Given the description of an element on the screen output the (x, y) to click on. 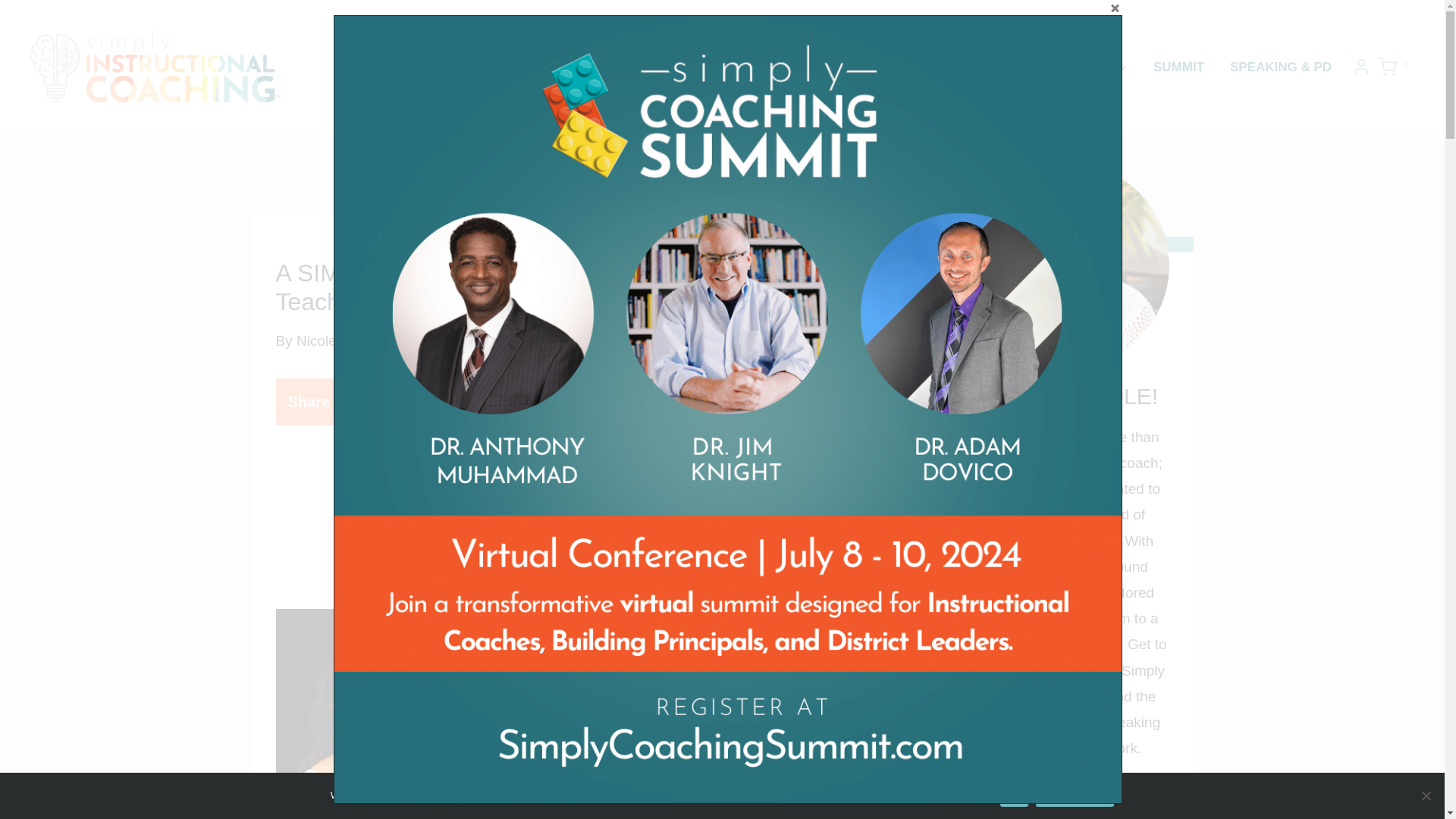
ABOUT (946, 66)
Facebook Share (426, 401)
HOME (878, 66)
SHOP (1102, 66)
0 (1395, 66)
Pinterest Share (489, 401)
LEARN (1023, 66)
SUMMIT (1178, 66)
MORE ABOUT NICOLE (1066, 791)
Twitter Share (457, 401)
No (1425, 795)
Email Share (521, 401)
Close (1114, 7)
